Given the description of an element on the screen output the (x, y) to click on. 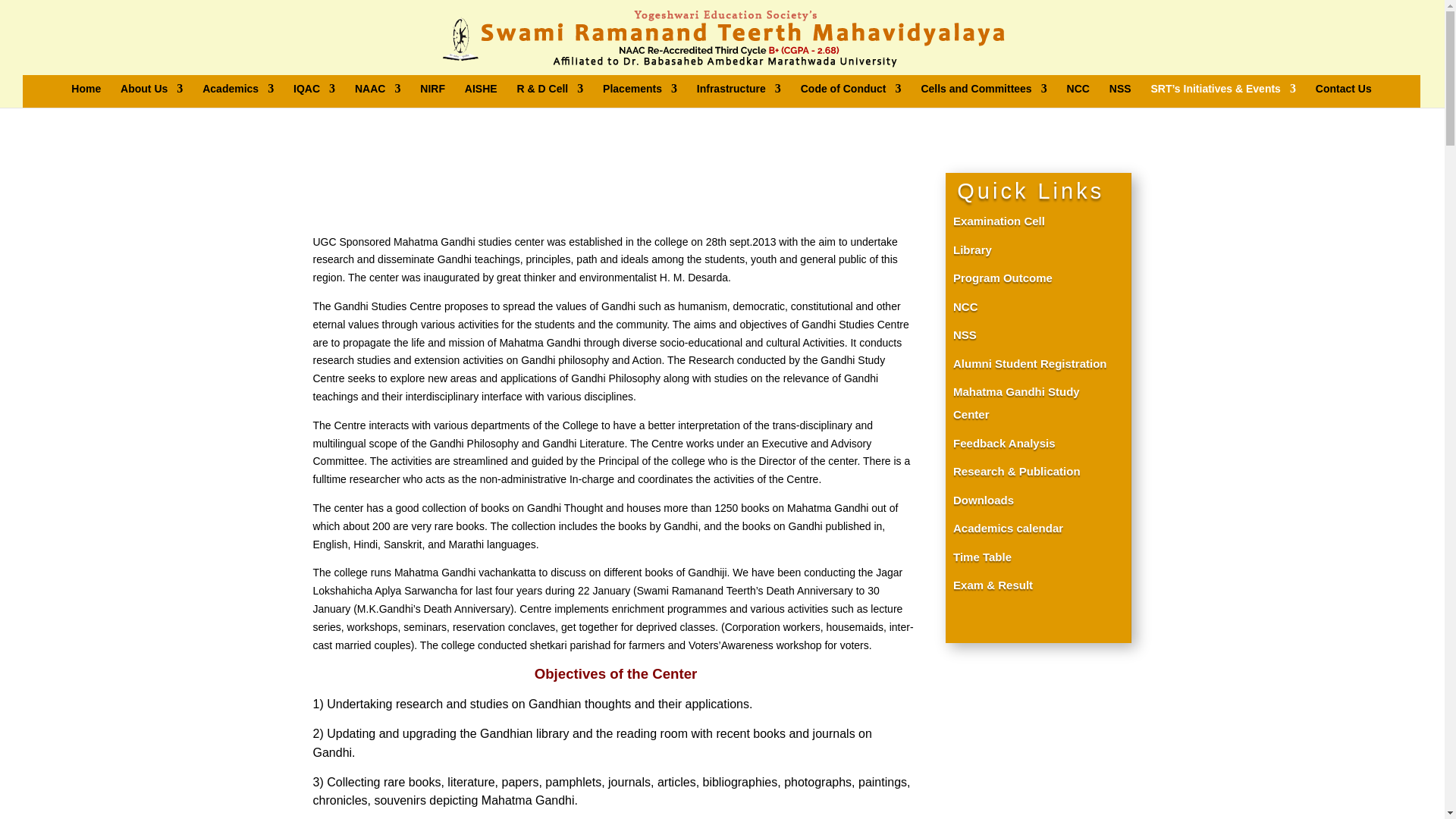
Home (85, 95)
About Us (151, 95)
Academics (237, 95)
